Given the description of an element on the screen output the (x, y) to click on. 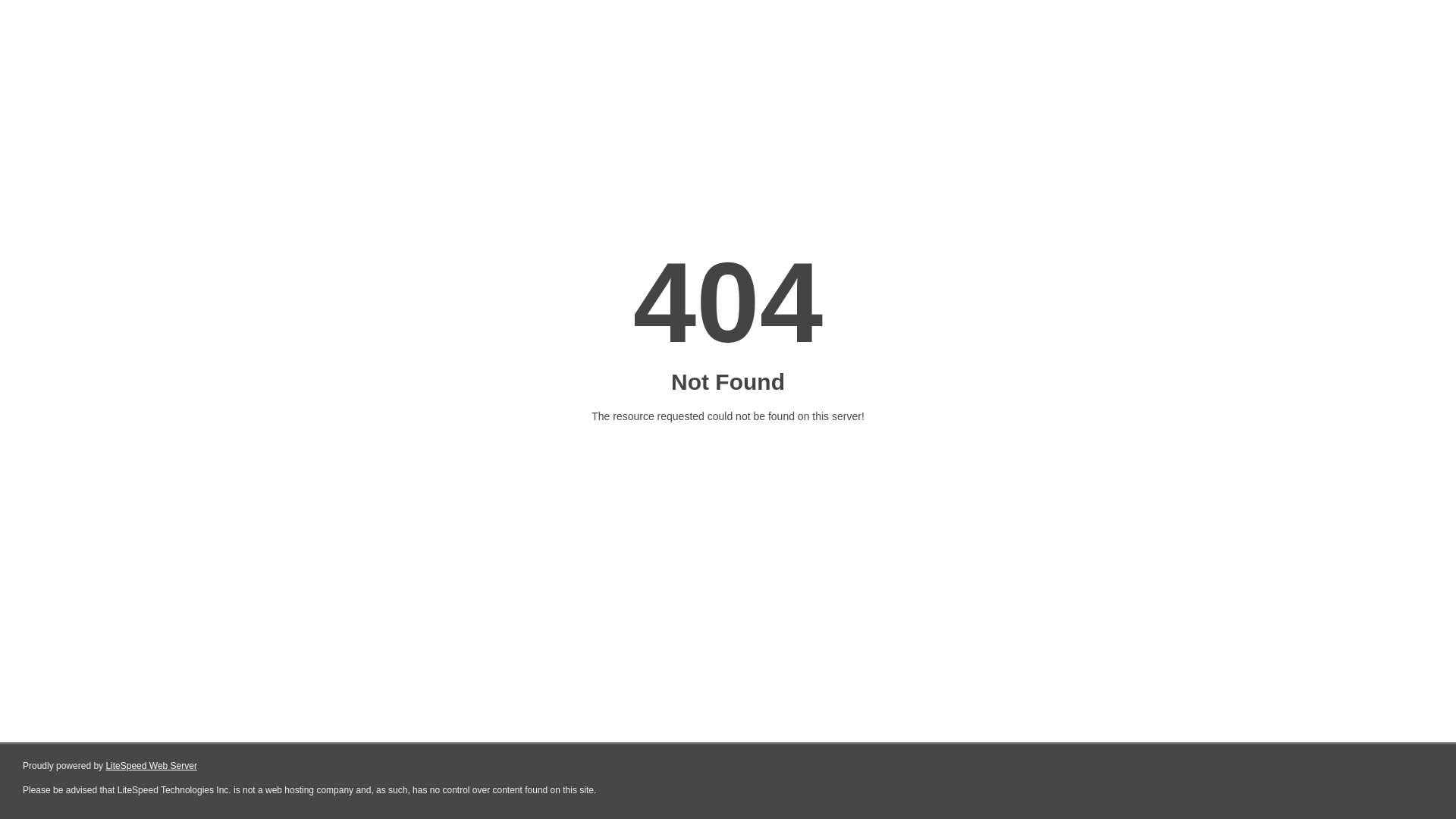
LiteSpeed Web Server Element type: text (151, 765)
